Given the description of an element on the screen output the (x, y) to click on. 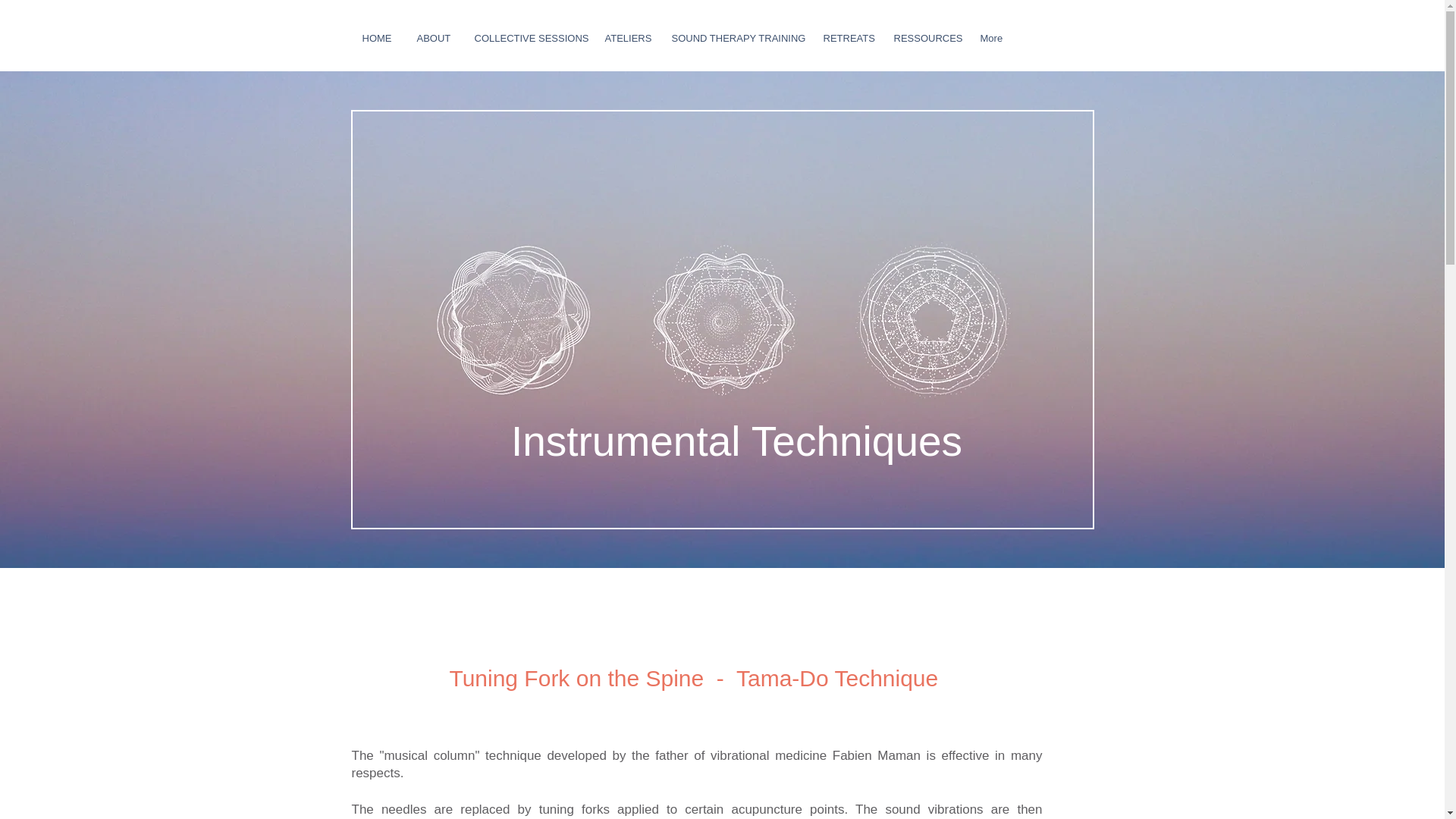
RETREATS (846, 38)
HOME (377, 38)
SOUND THERAPY TRAINING (734, 38)
COLLECTIVE SESSIONS (527, 38)
